Given the description of an element on the screen output the (x, y) to click on. 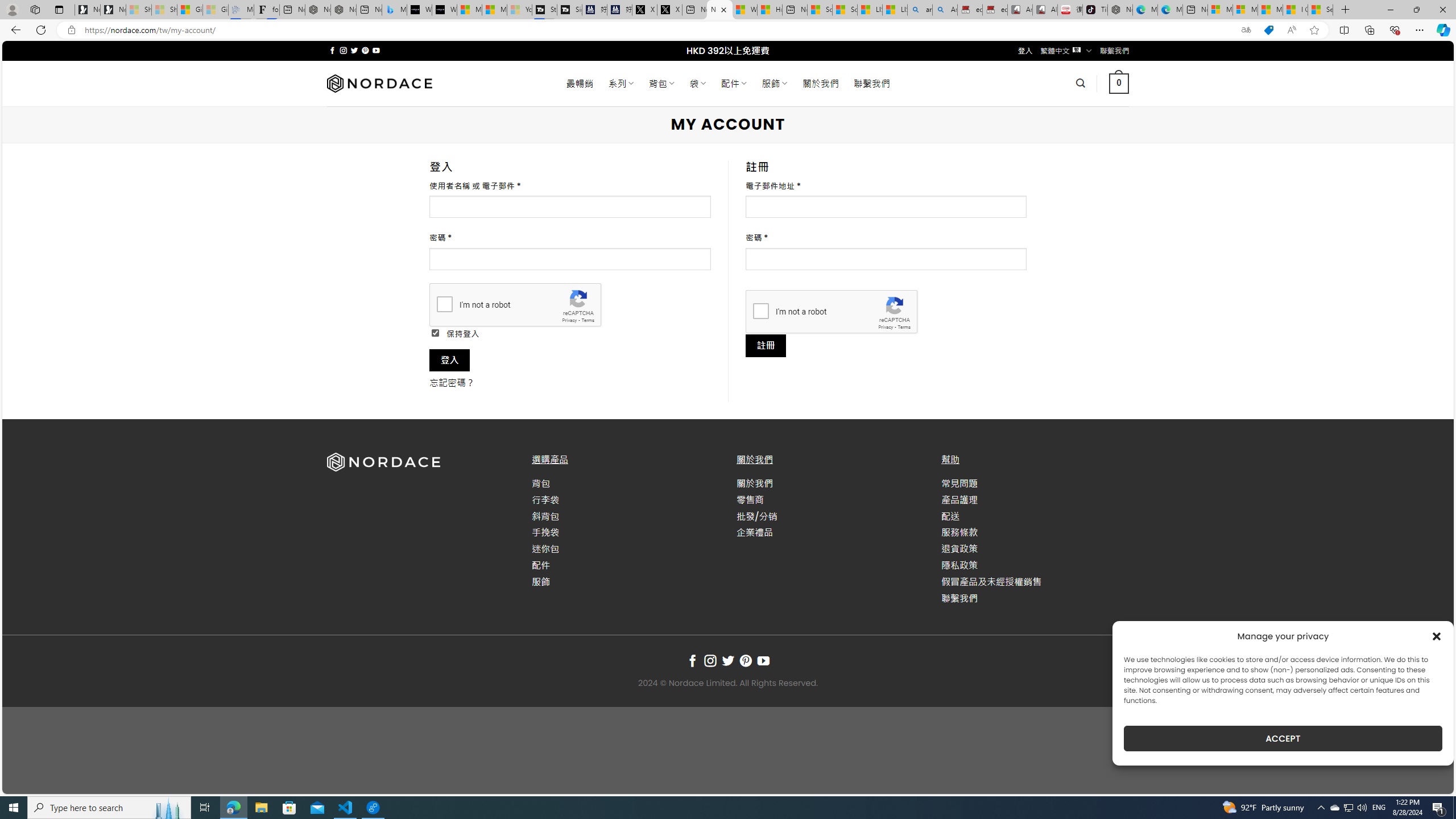
Personal Profile (12, 9)
Amazon Echo Dot PNG - Search Images (944, 9)
New Tab (1346, 9)
Nordace - #1 Japanese Best-Seller - Siena Smart Backpack (343, 9)
Go to top (1430, 777)
Nordace (379, 83)
